Given the description of an element on the screen output the (x, y) to click on. 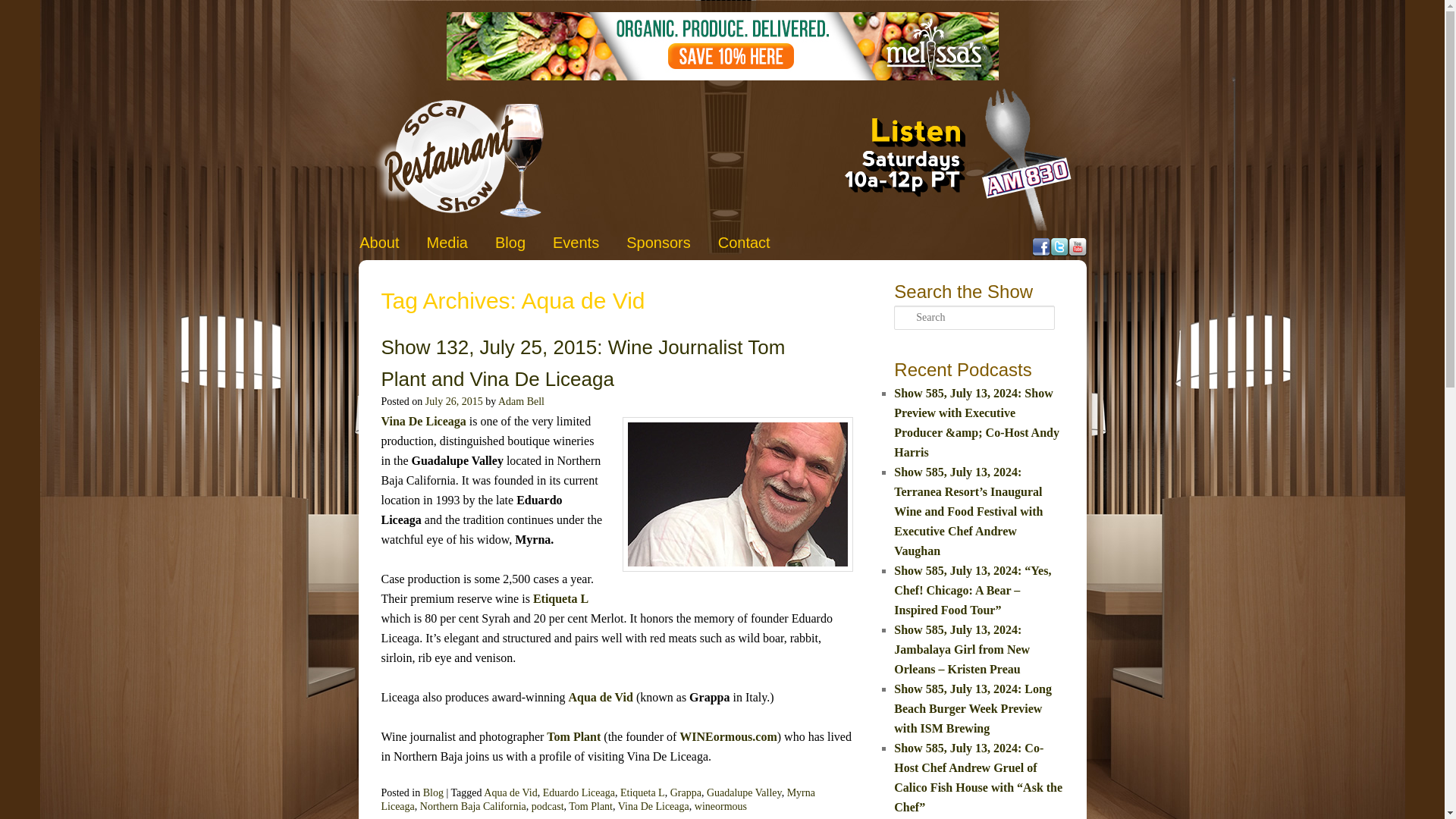
Etiqueta L (560, 598)
SoCal Restaurant Show (457, 158)
Aqua de Vid (510, 792)
Media Gallery (447, 242)
Sponsors (658, 242)
YouTube (1076, 247)
SoCal Restaurant Show Blog (509, 242)
Facebook (1039, 247)
Aqua de Vid (601, 697)
Skip to primary content (426, 240)
Adam Bell (520, 401)
Skip to secondary content (431, 240)
Tom Plant (573, 736)
About (379, 242)
July 26, 2015 (454, 401)
